Given the description of an element on the screen output the (x, y) to click on. 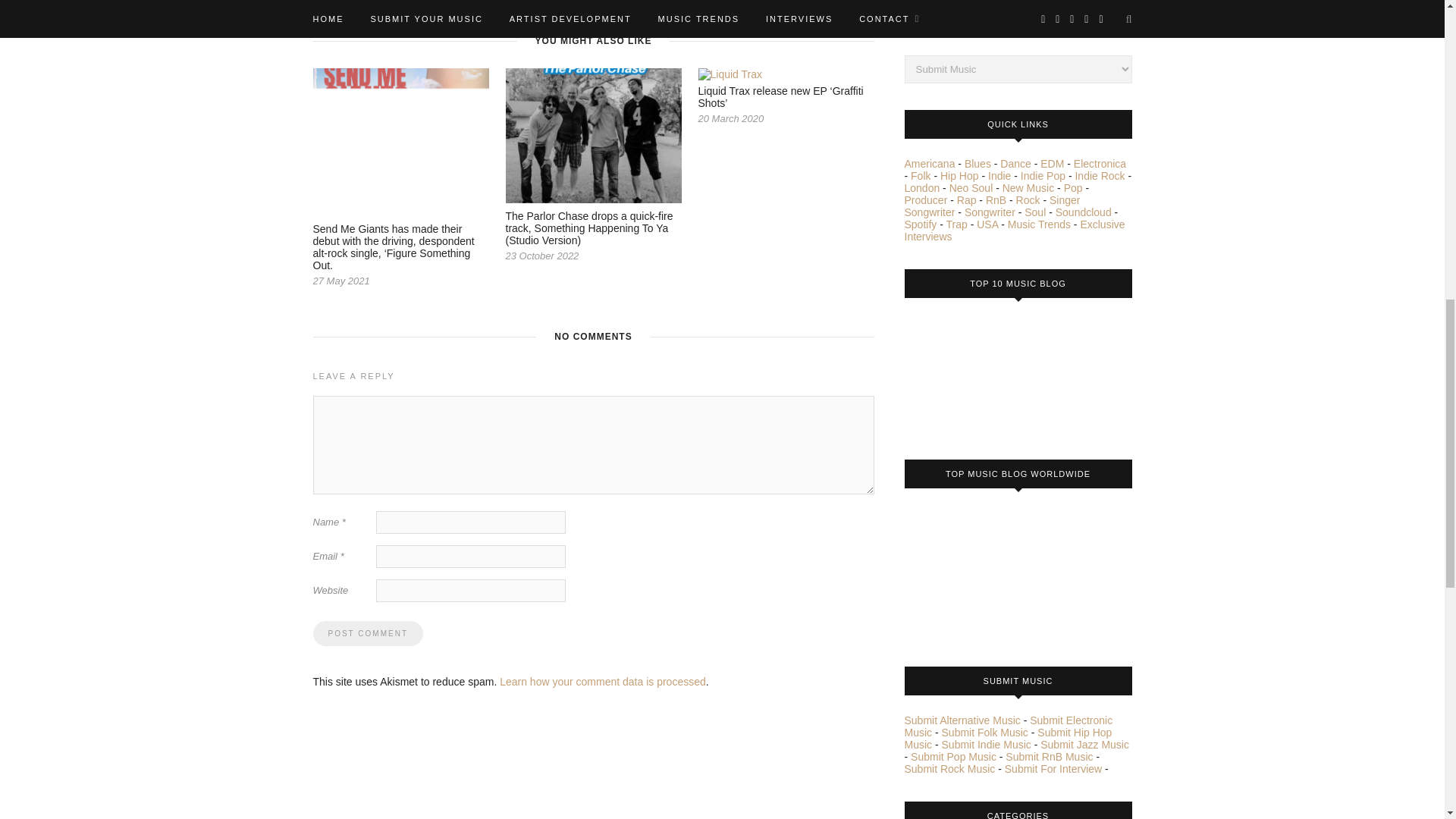
Learn how your comment data is processed (602, 681)
Top 10 Music Blog (960, 373)
Post Comment (367, 633)
Post Comment (367, 633)
Americana (929, 163)
